Given the description of an element on the screen output the (x, y) to click on. 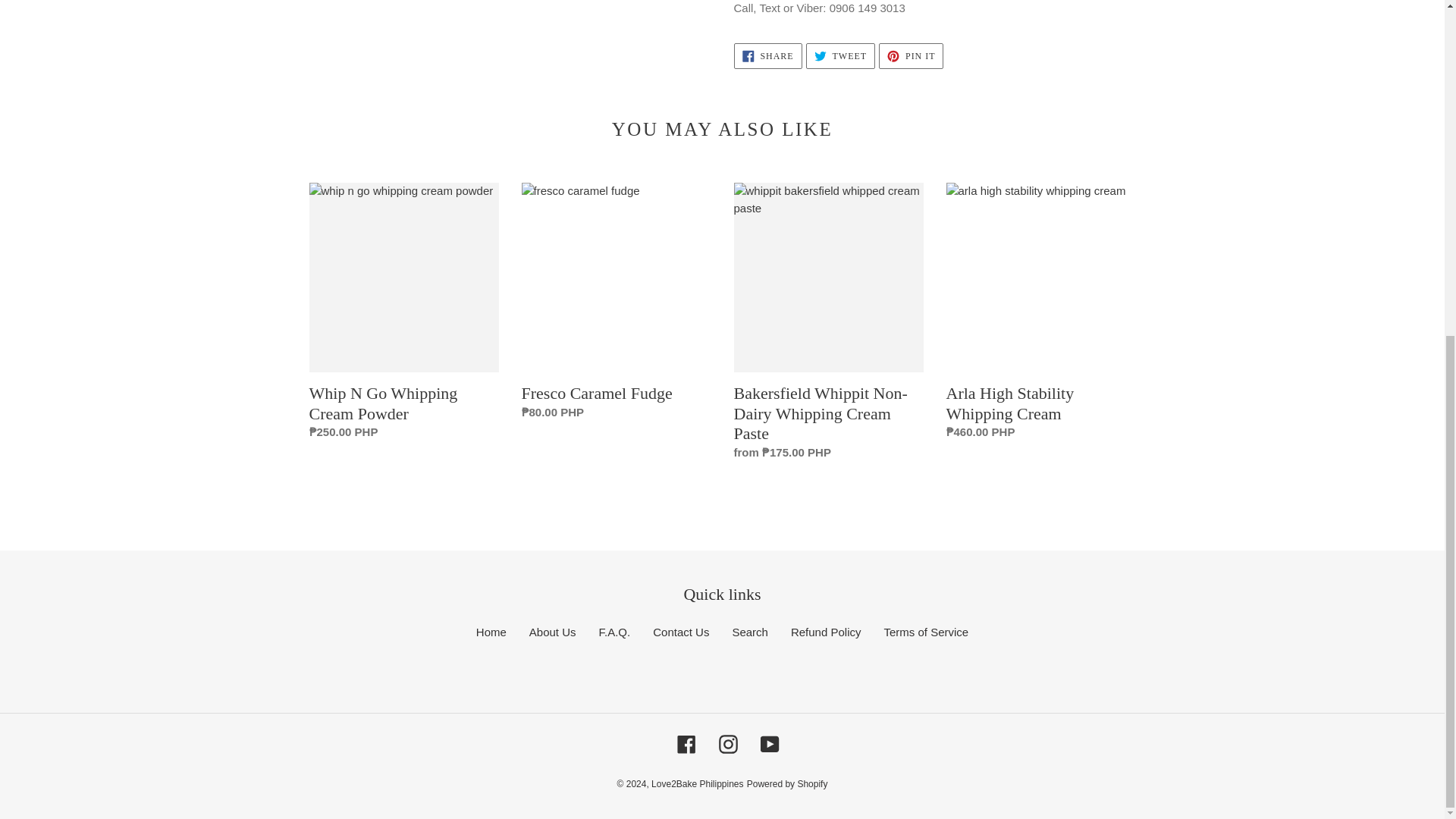
About Us (552, 631)
Search (750, 631)
Contact Us (680, 631)
Refund Policy (825, 631)
Terms of Service (926, 631)
F.A.Q. (614, 631)
Home (911, 55)
